Given the description of an element on the screen output the (x, y) to click on. 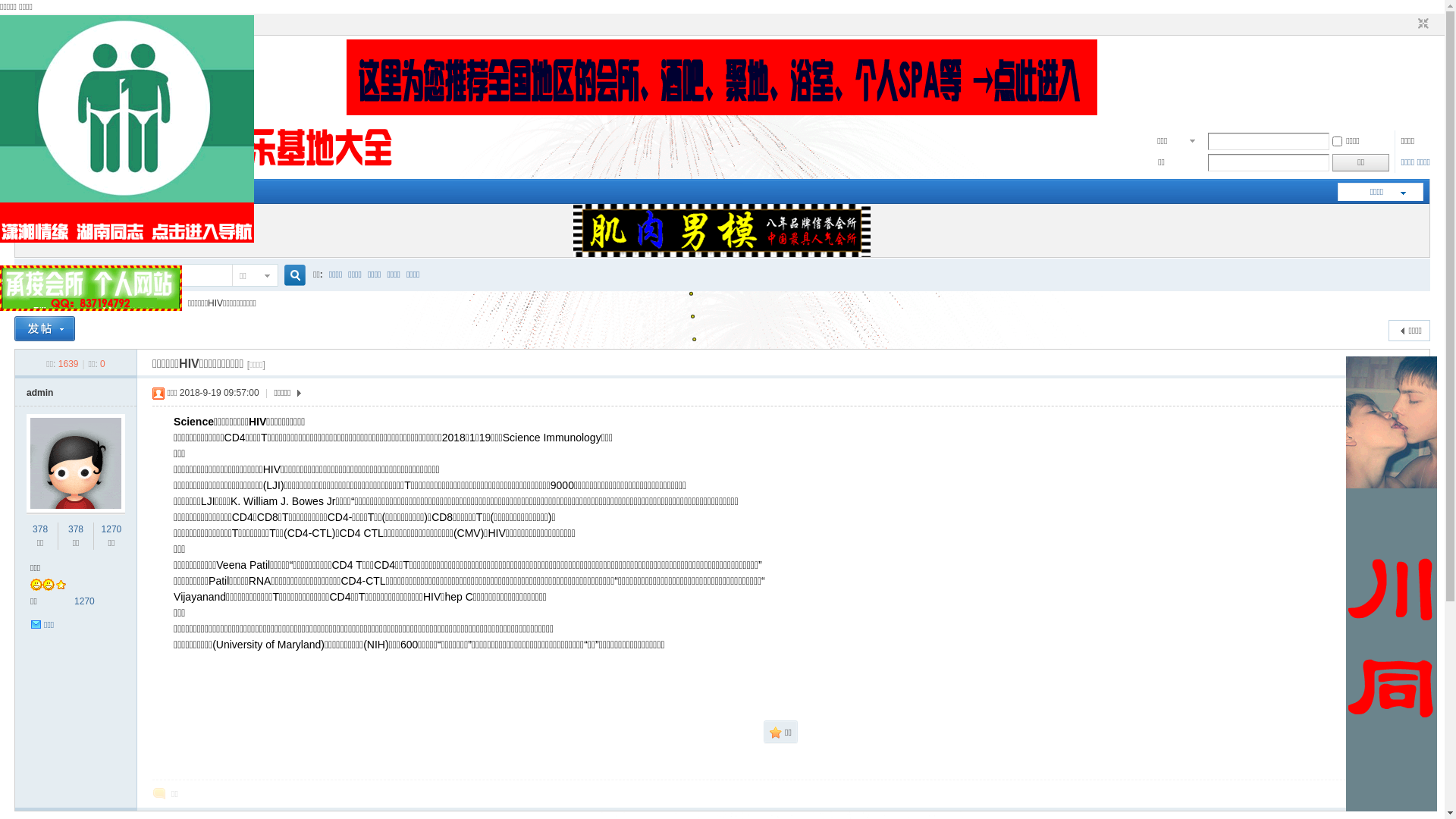
true Element type: text (289, 275)
378 Element type: text (75, 529)
admin Element type: text (39, 392)
1270 Element type: text (84, 601)
378 Element type: text (39, 529)
1270 Element type: text (111, 529)
